Given the description of an element on the screen output the (x, y) to click on. 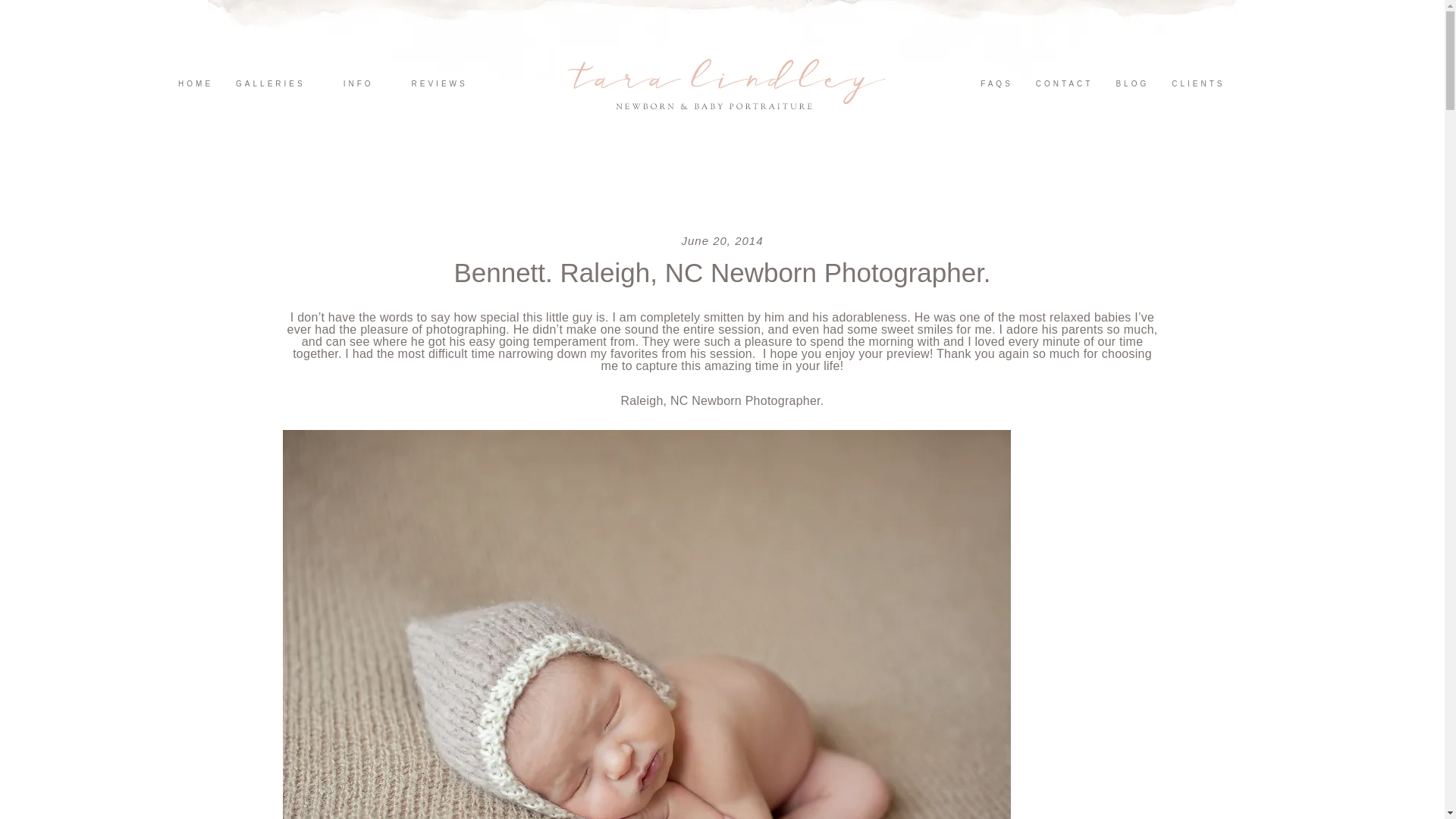
GALLERIES (270, 83)
Reviews (440, 83)
Galleries (270, 83)
BLOG (1132, 83)
Home (195, 83)
Info (358, 83)
CLIENTS (1197, 83)
HOME (195, 83)
INFO (358, 83)
REVIEWS (440, 83)
CONTACT (1063, 83)
FAQS (996, 83)
